Given the description of an element on the screen output the (x, y) to click on. 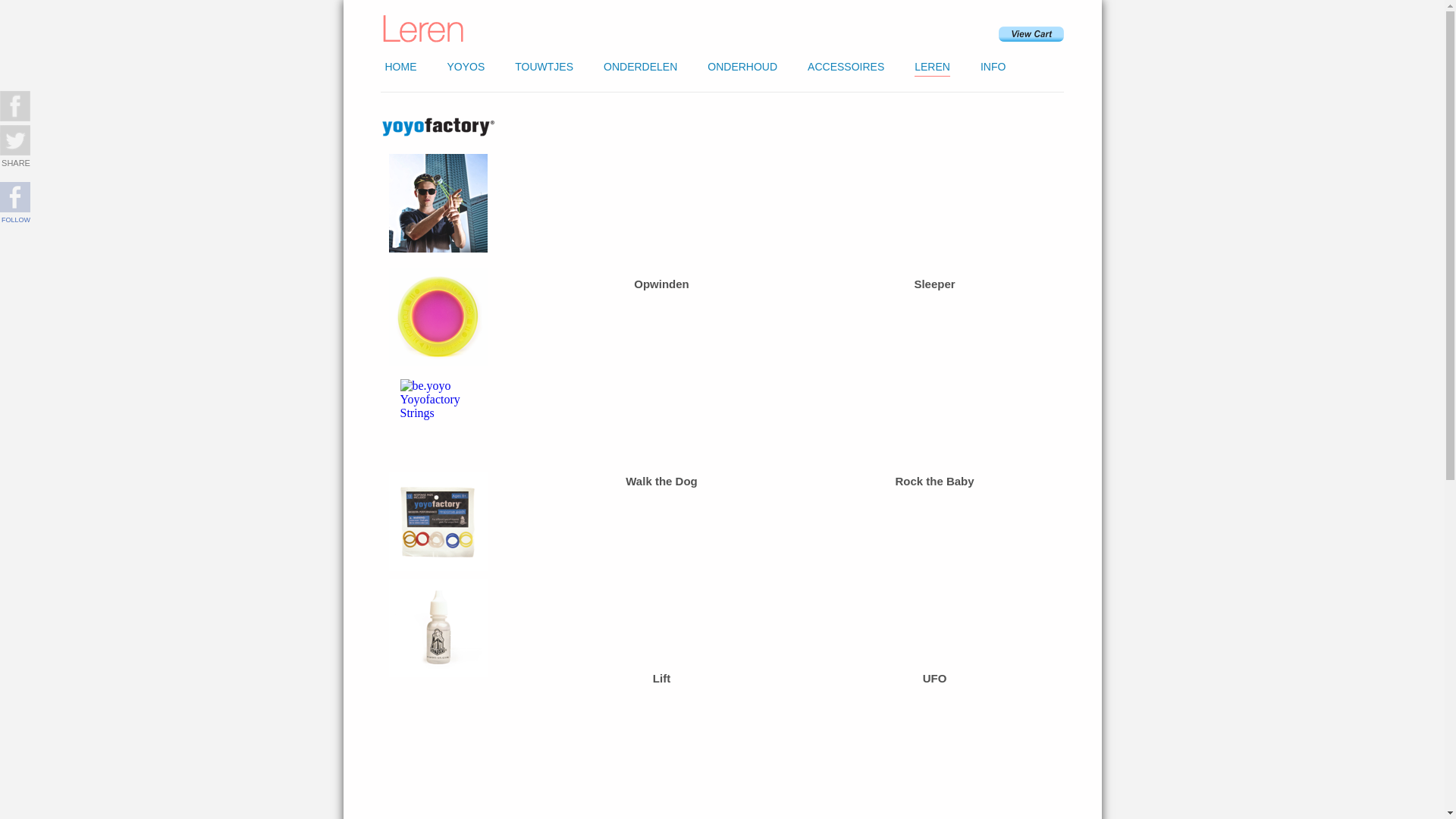
ONDERDELEN Element type: text (639, 66)
ACCESSOIRES Element type: text (845, 66)
TOUWTJES Element type: text (544, 66)
ONDERHOUD Element type: text (742, 66)
INFO Element type: text (992, 66)
LEREN Element type: text (931, 66)
YOYOS Element type: text (465, 66)
HOME Element type: text (400, 66)
